Given the description of an element on the screen output the (x, y) to click on. 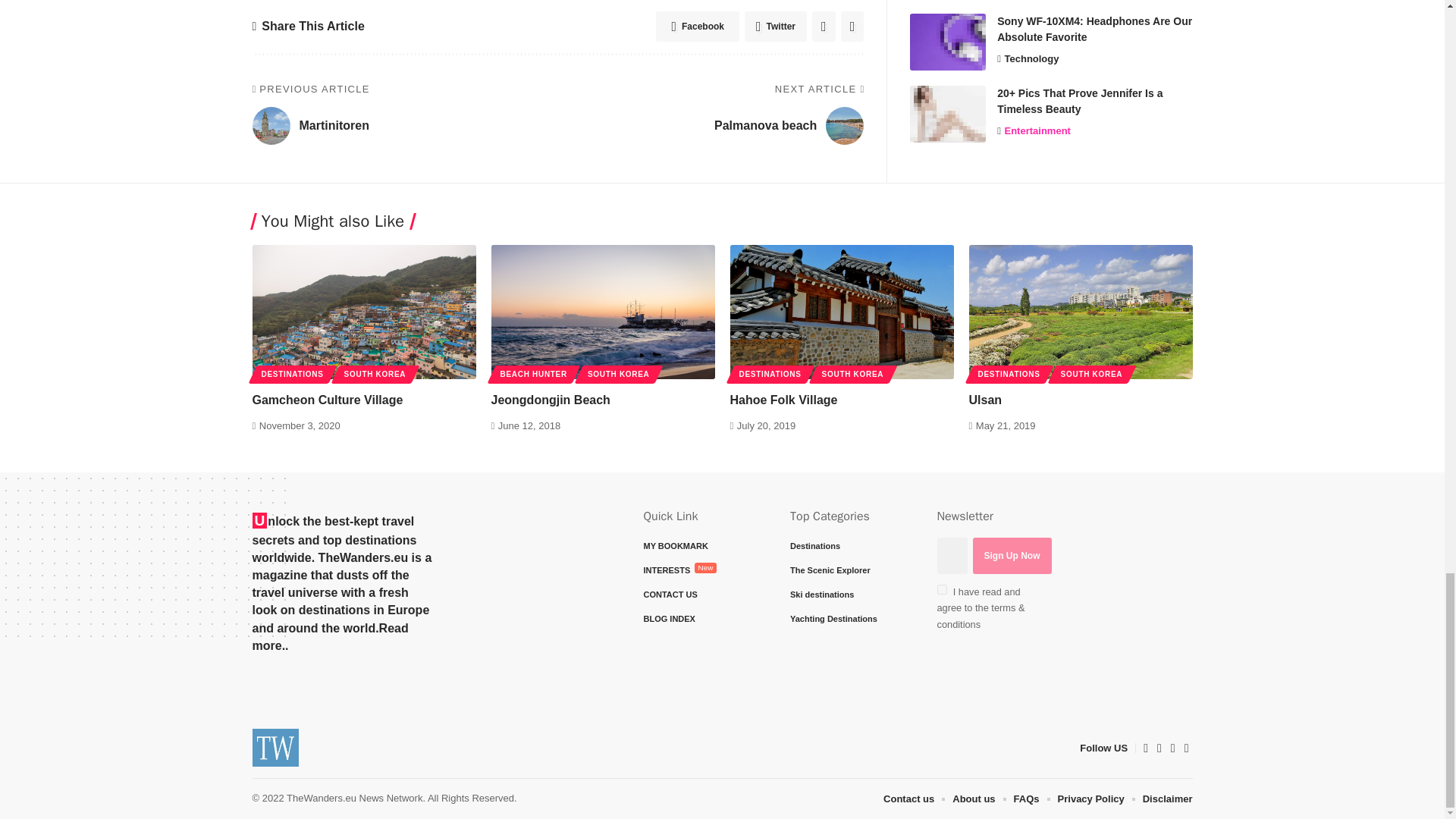
Sign Up Now (1011, 555)
1 (942, 589)
